Given the description of an element on the screen output the (x, y) to click on. 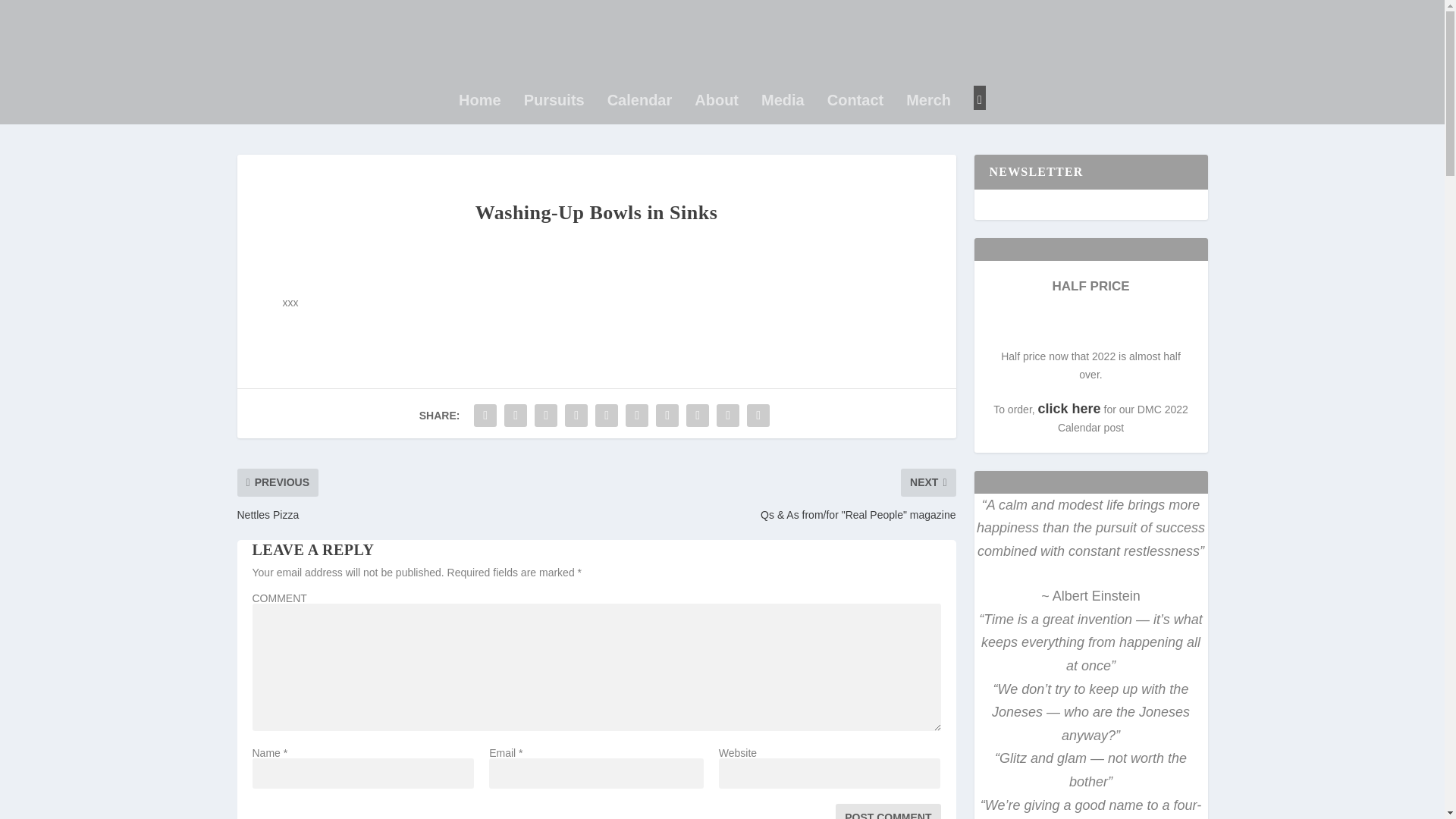
Share "Washing-Up Bowls in Sinks" via Pinterest (606, 415)
Share "Washing-Up Bowls in Sinks" via Tumblr (575, 415)
Pursuits (554, 120)
Share "Washing-Up Bowls in Sinks" via LinkedIn (636, 415)
Share "Washing-Up Bowls in Sinks" via Print (757, 415)
Post Comment (887, 811)
click here (1069, 409)
Share "Washing-Up Bowls in Sinks" via Twitter (515, 415)
Share "Washing-Up Bowls in Sinks" via Email (727, 415)
Share "Washing-Up Bowls in Sinks" via Buffer (667, 415)
Share "Washing-Up Bowls in Sinks" via Facebook (485, 415)
Calendar (639, 120)
Share "Washing-Up Bowls in Sinks" via Stumbleupon (697, 415)
Contact (855, 120)
Post Comment (887, 811)
